Given the description of an element on the screen output the (x, y) to click on. 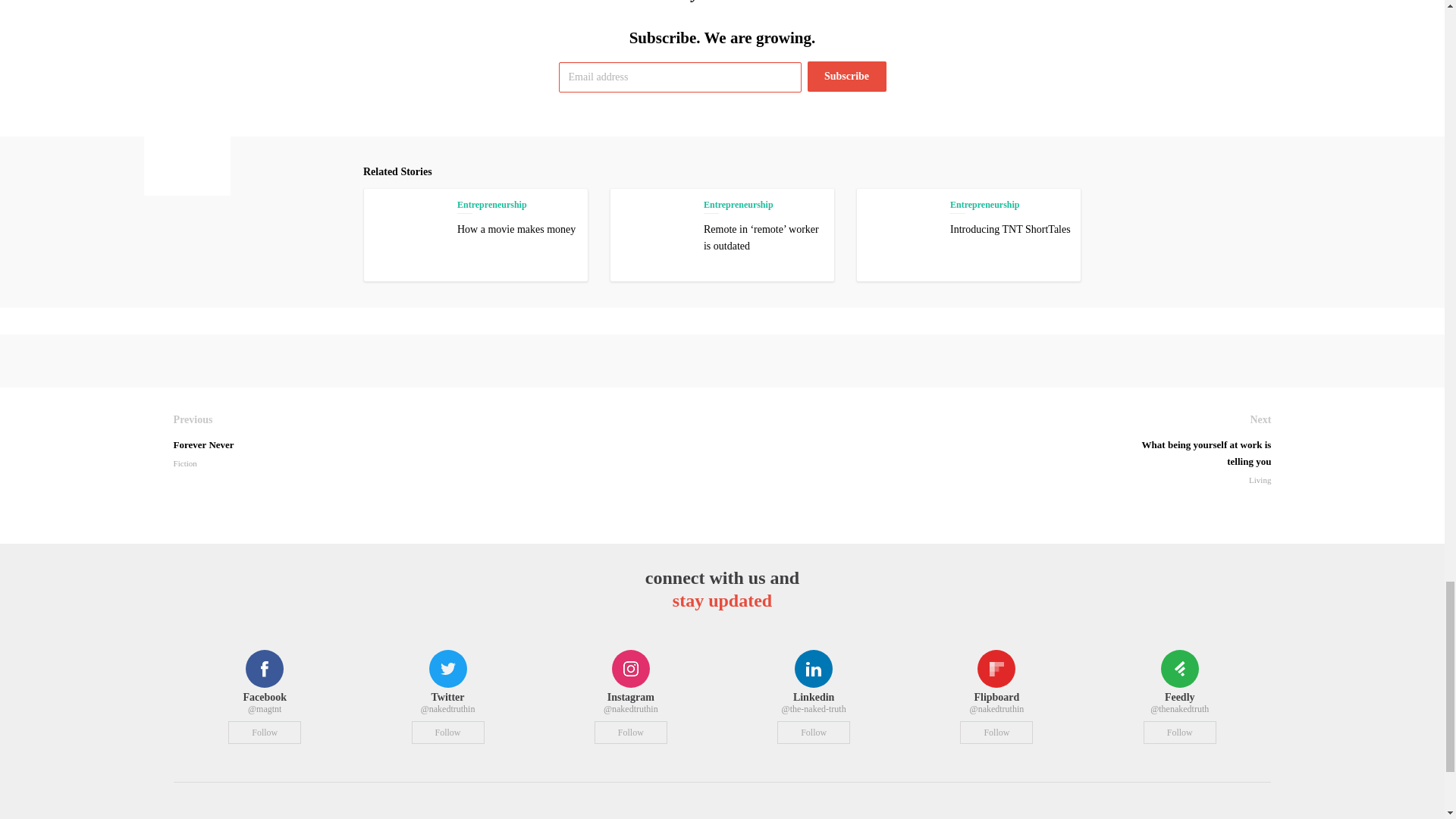
Follow TNT on Facebook (264, 732)
Forever Never (447, 441)
What being yourself at work is telling you (1195, 449)
twitter (448, 668)
Follow TNT on Twitter (448, 732)
